Given the description of an element on the screen output the (x, y) to click on. 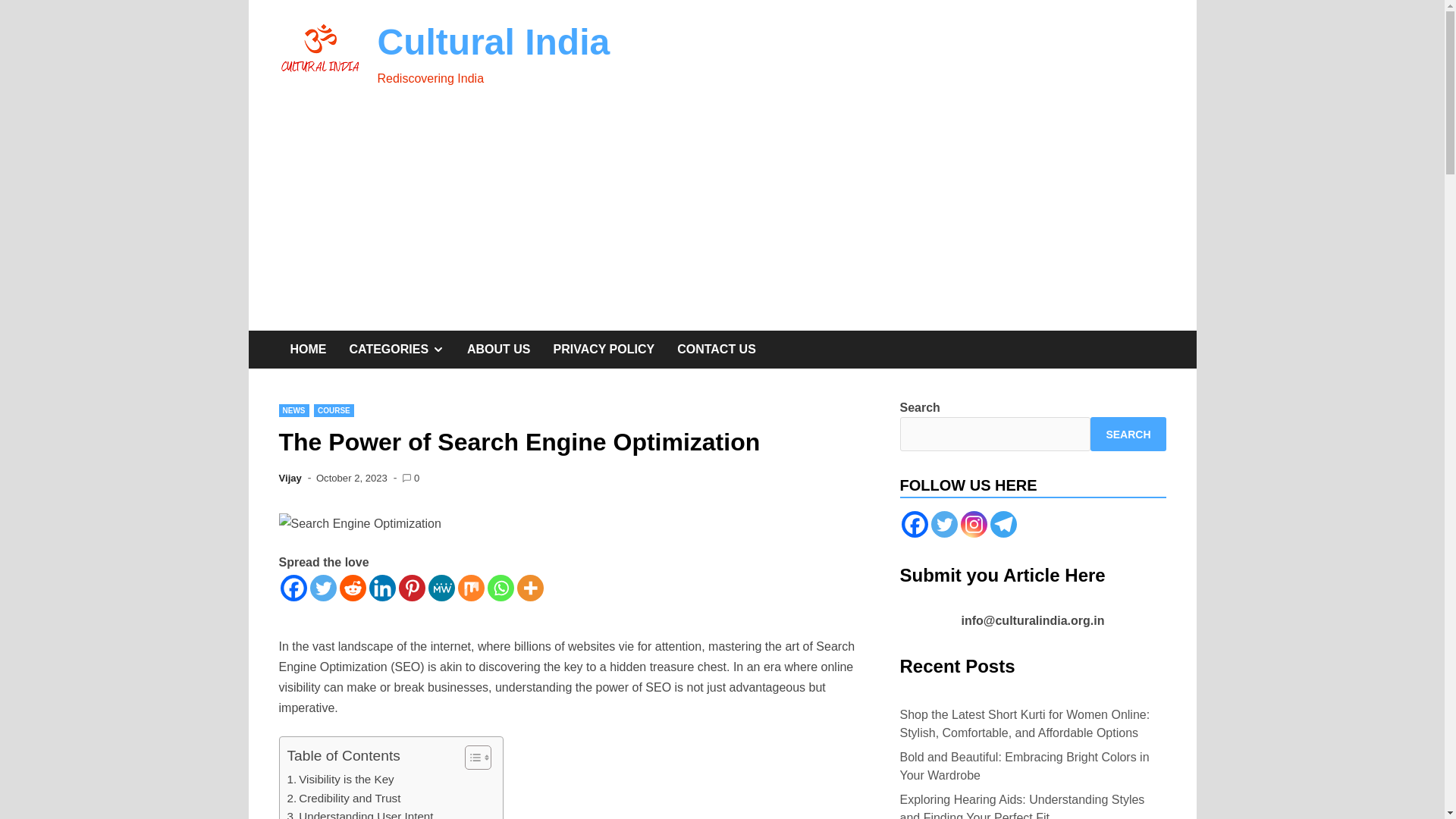
Visibility is the Key (339, 779)
COURSE (333, 410)
MeWe (441, 587)
Understanding User Intent (359, 813)
CONTACT US (716, 349)
Facebook (294, 587)
Credibility and Trust (343, 798)
Pinterest (411, 587)
Visibility is the Key (339, 779)
Linkedin (381, 587)
ABOUT US (498, 349)
HOME (308, 349)
NEWS (293, 410)
Twitter (322, 587)
